Given the description of an element on the screen output the (x, y) to click on. 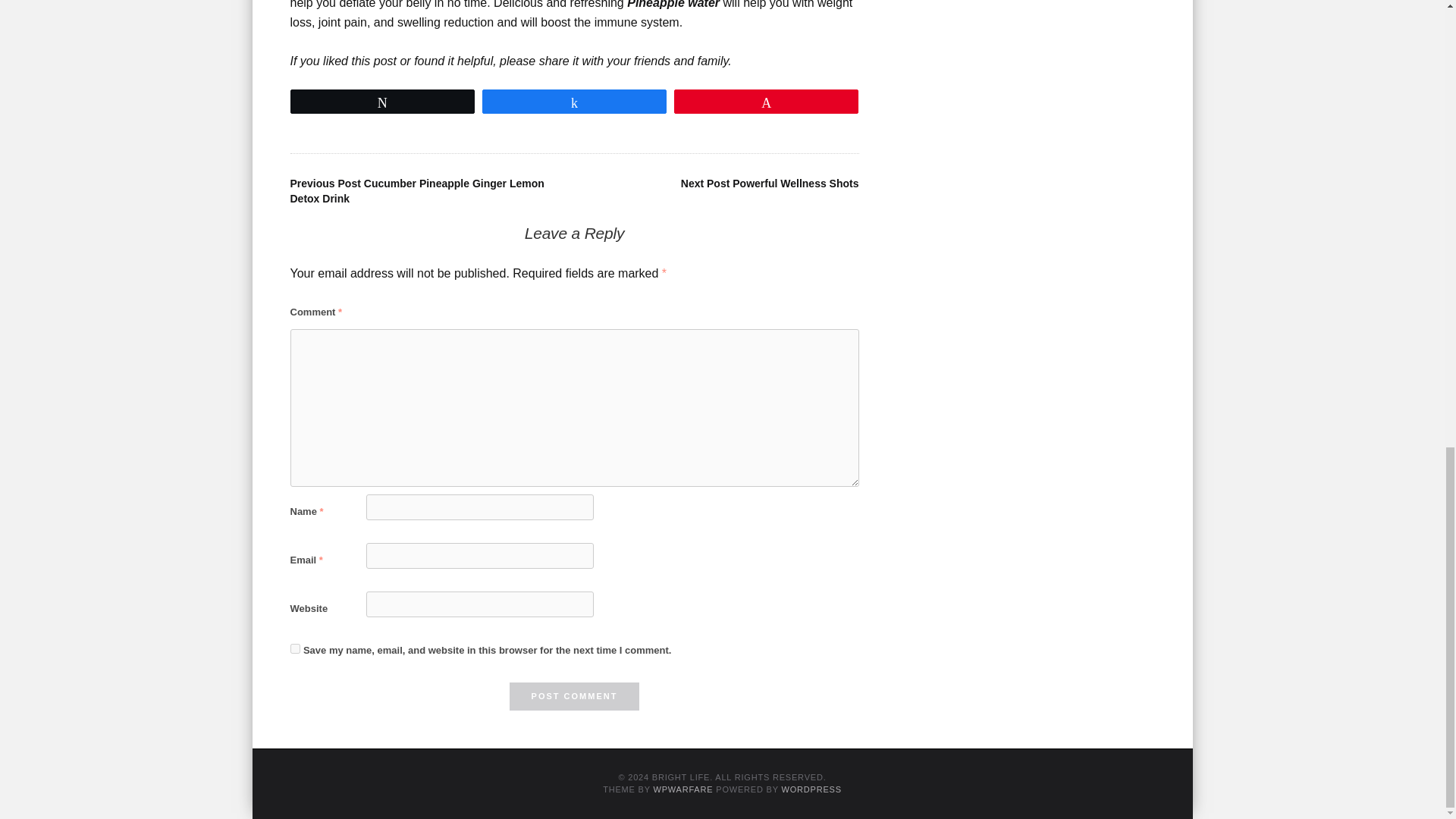
Post Comment (574, 696)
WORDPRESS (810, 788)
WPWARFARE (682, 788)
Post Comment (574, 696)
yes (294, 648)
Pineapple water (673, 4)
Next Post Powerful Wellness Shots (770, 183)
Previous Post Cucumber Pineapple Ginger Lemon Detox Drink (416, 190)
